Given the description of an element on the screen output the (x, y) to click on. 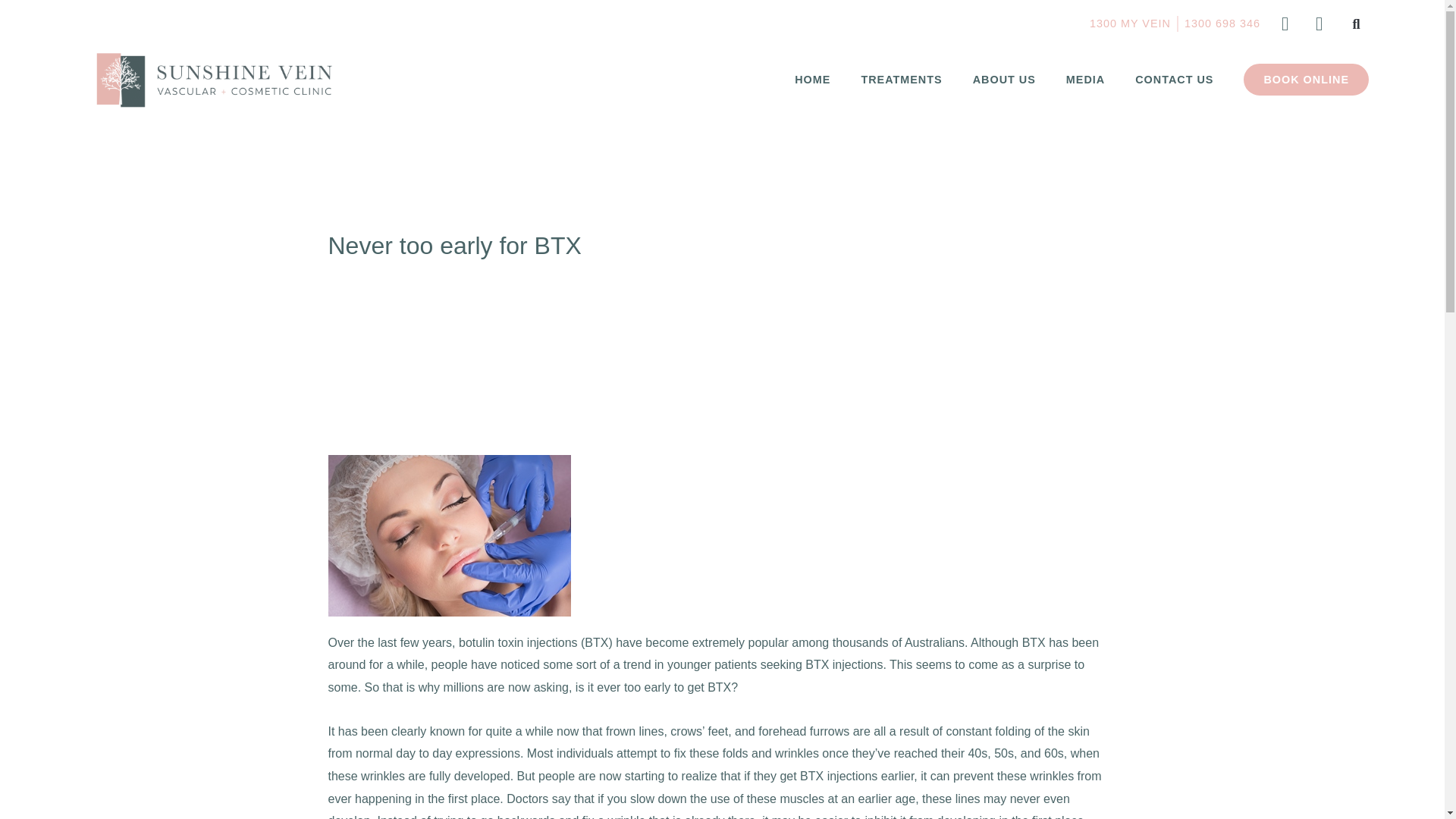
ABOUT US (1004, 79)
1300 698 346 (1222, 23)
TREATMENTS (900, 79)
CONTACT US (1173, 79)
Instagram (1317, 23)
BOOK ONLINE (1305, 79)
HOME (811, 79)
1300 MY VEIN (1129, 23)
MEDIA (1085, 79)
Facebook (1284, 23)
